Given the description of an element on the screen output the (x, y) to click on. 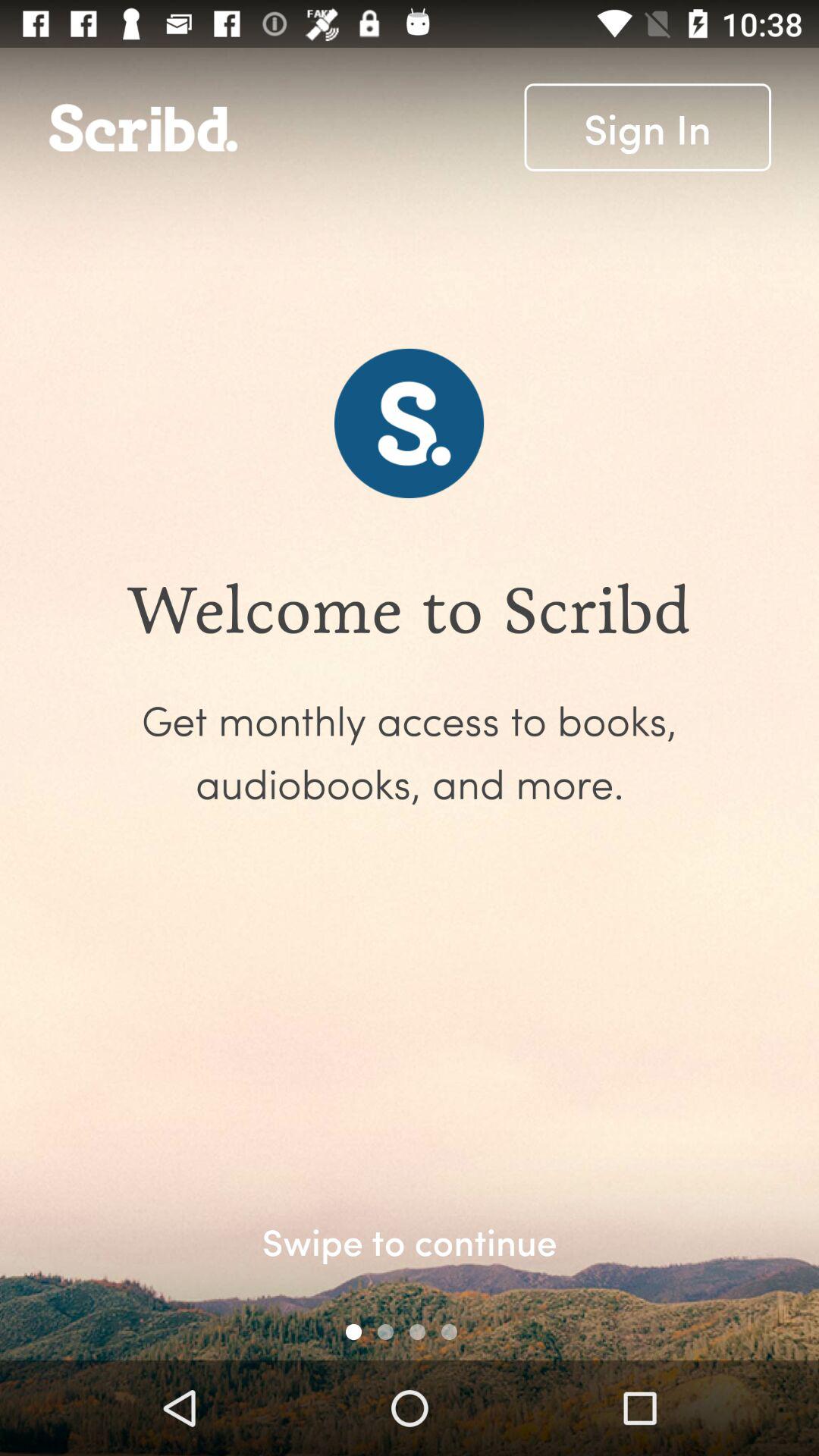
tap the icon at the top right corner (647, 127)
